Given the description of an element on the screen output the (x, y) to click on. 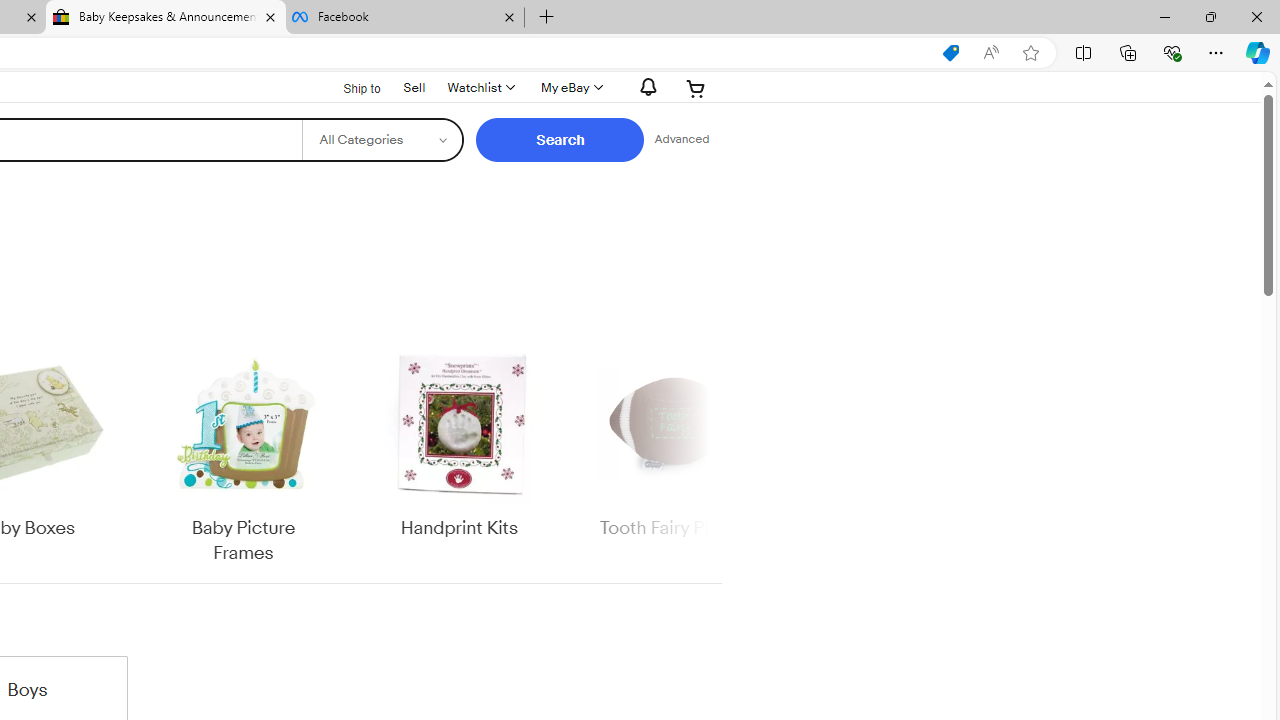
Ship to (349, 86)
My eBay (569, 88)
Sell (414, 87)
AutomationID: gh-eb-Alerts (645, 87)
